Given the description of an element on the screen output the (x, y) to click on. 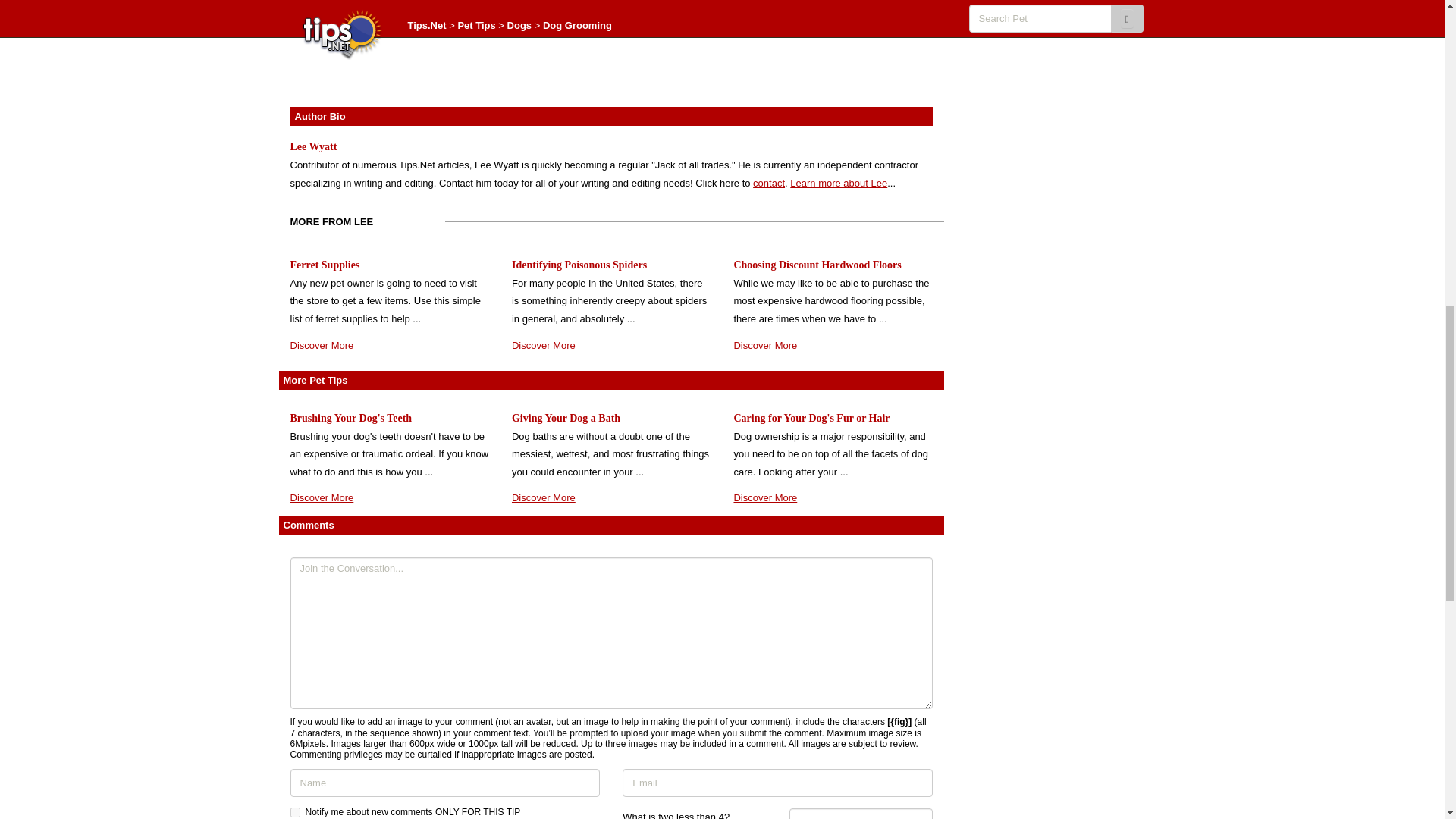
Discover More (321, 345)
Advertisement (611, 47)
Discover More (764, 497)
Learn more about Lee (838, 183)
Discover More (764, 345)
option1 (294, 812)
Discover More (321, 497)
Discover More (543, 497)
Discover More (543, 345)
contact (768, 183)
